Given the description of an element on the screen output the (x, y) to click on. 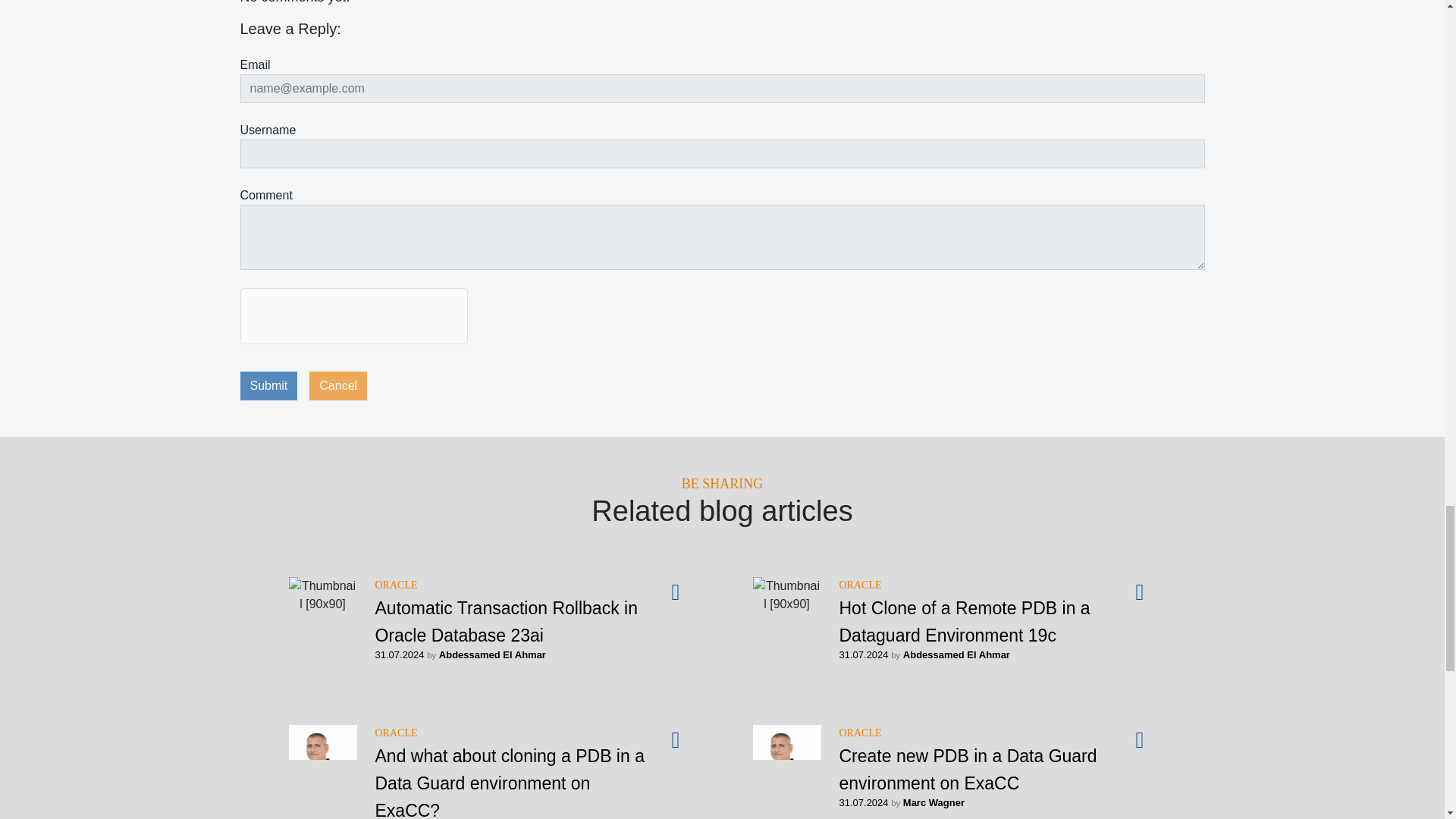
ORACLE (395, 584)
Hot Clone of a Remote PDB in a Dataguard Environment 19c (963, 621)
ORACLE (395, 732)
Submit (268, 385)
Abdessamed El Ahmar (956, 654)
Automatic Transaction Rollback in Oracle Database 23ai (505, 621)
ORACLE (859, 584)
Abdessamed El Ahmar (492, 654)
Cancel (337, 385)
